Given the description of an element on the screen output the (x, y) to click on. 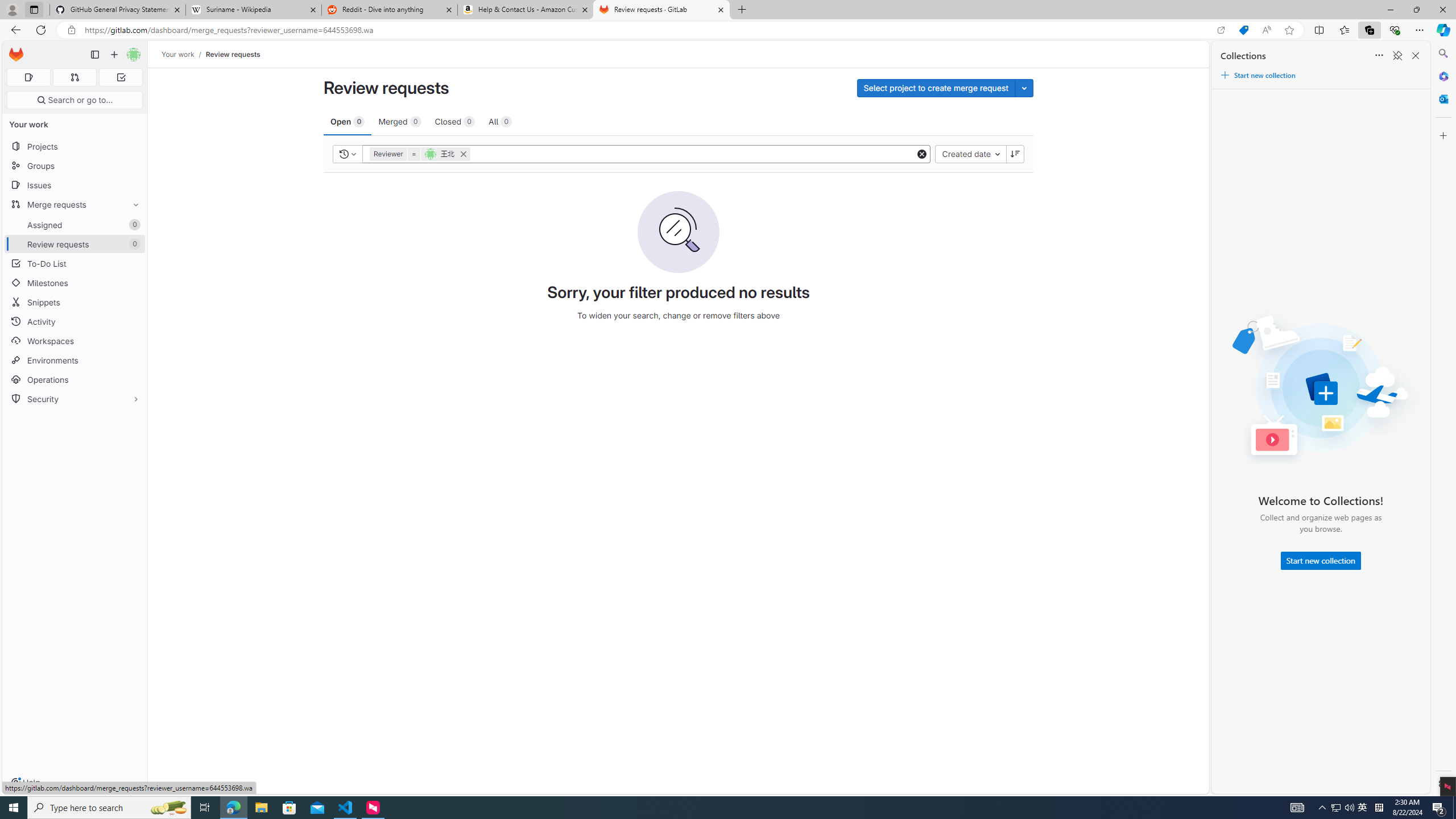
Milestones (74, 282)
Clear (921, 153)
To-Do list 0 (120, 76)
Suriname - Wikipedia (253, 9)
Environments (74, 359)
Primary navigation sidebar (94, 54)
Toggle project select (1023, 87)
Start new collection (1321, 560)
Issues (74, 185)
Class: s16 (343, 153)
Recent searches (347, 153)
Groups (74, 165)
